Given the description of an element on the screen output the (x, y) to click on. 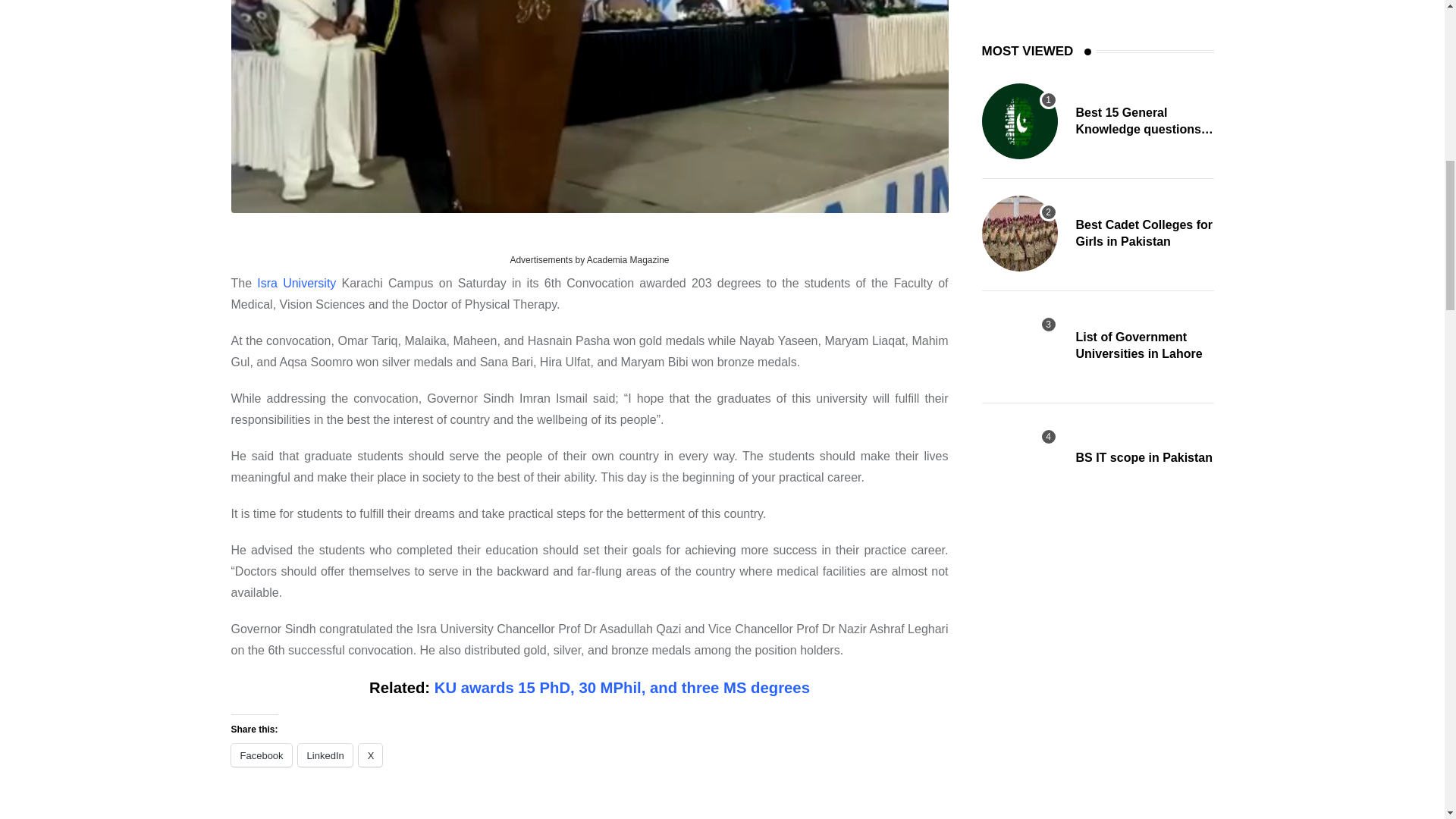
Click to share on LinkedIn (325, 754)
Click to share on Facebook (260, 754)
Click to share on X (370, 754)
